Given the description of an element on the screen output the (x, y) to click on. 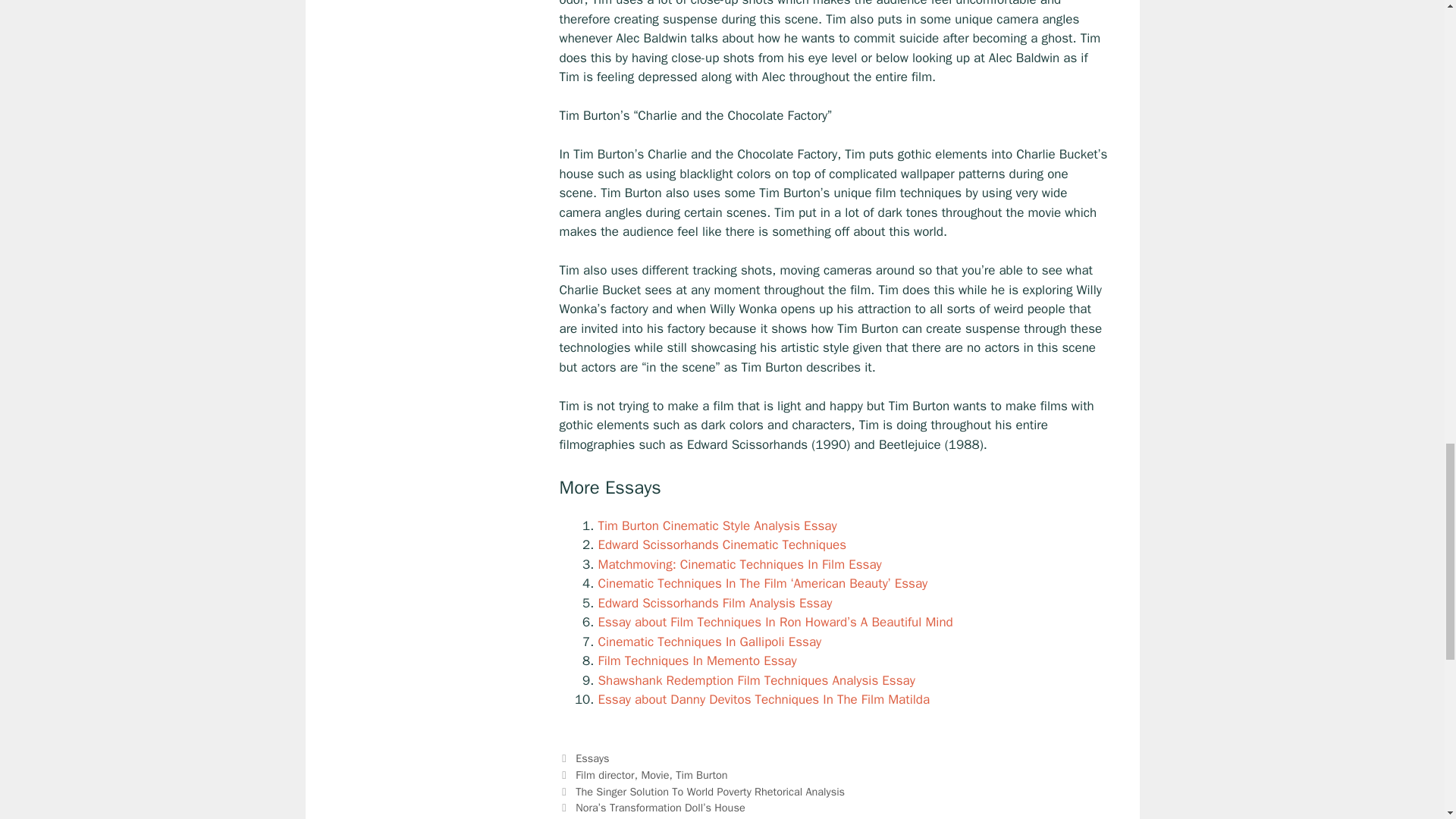
Shawshank Redemption Film Techniques Analysis Essay (755, 680)
Film director (604, 775)
Film Techniques In Memento Essay (696, 660)
Essay about Danny Devitos Techniques In The Film Matilda (763, 699)
Edward Scissorhands Film Analysis Essay (713, 602)
Tim Burton Cinematic Style Analysis Essay (715, 525)
Tim Burton Cinematic Style Analysis Essay (715, 525)
Previous (702, 791)
Cinematic Techniques In Gallipoli Essay (708, 641)
Film Techniques In Memento Essay (696, 660)
Edward Scissorhands Film Analysis Essay (713, 602)
Movie (654, 775)
Matchmoving: Cinematic Techniques In Film Essay (738, 564)
The Singer Solution To World Poverty Rhetorical Analysis (709, 791)
Essays (591, 757)
